Given the description of an element on the screen output the (x, y) to click on. 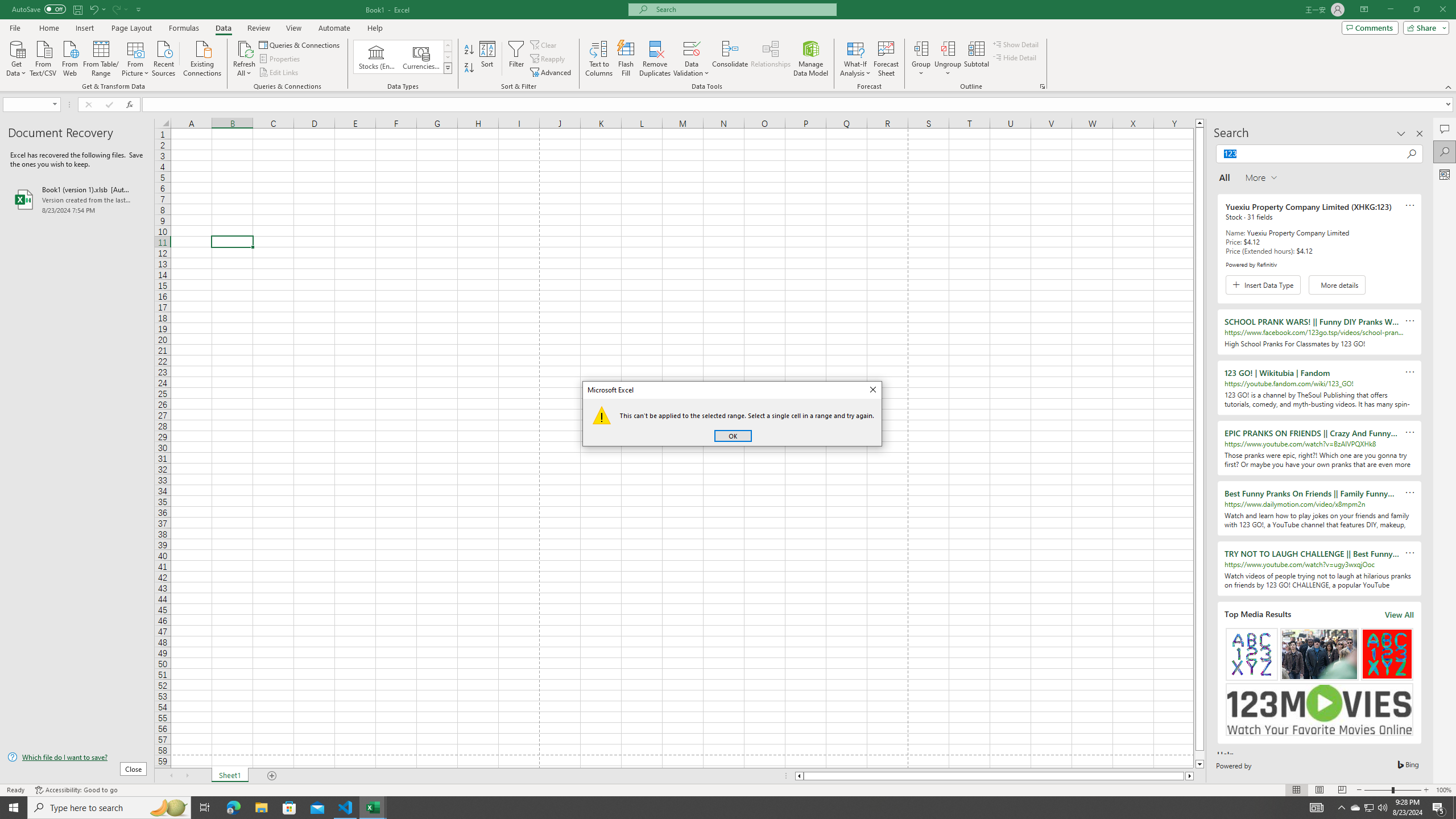
Close pane (1419, 133)
Show desktop (1454, 807)
Consolidate... (729, 58)
Sort Z to A (469, 67)
Excel - 2 running windows (373, 807)
Microsoft search (742, 9)
Remove Duplicates (654, 58)
Notification Chevron (1341, 807)
